Given the description of an element on the screen output the (x, y) to click on. 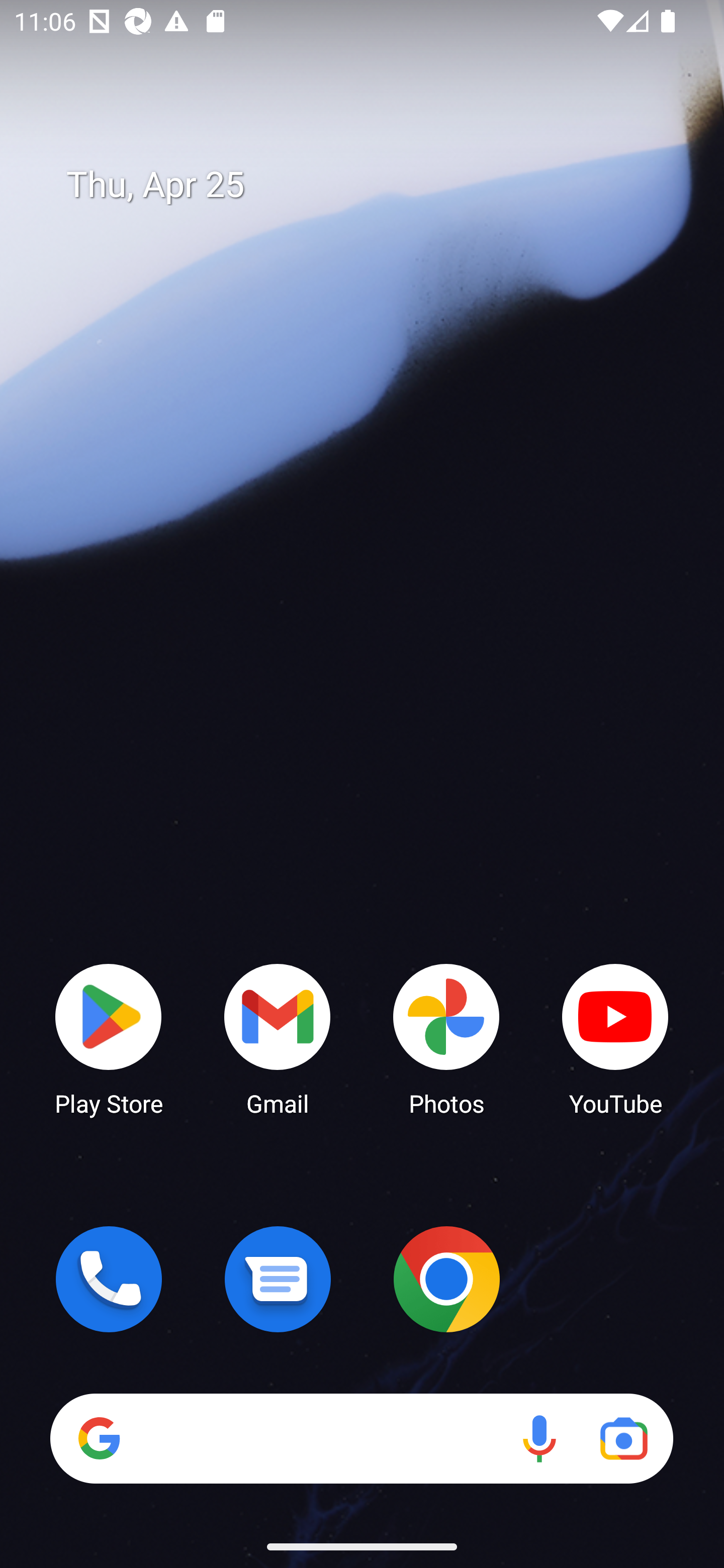
Thu, Apr 25 (375, 184)
Play Store (108, 1038)
Gmail (277, 1038)
Photos (445, 1038)
YouTube (615, 1038)
Phone (108, 1279)
Messages (277, 1279)
Chrome (446, 1279)
Search Voice search Google Lens (361, 1438)
Voice search (539, 1438)
Google Lens (623, 1438)
